Given the description of an element on the screen output the (x, y) to click on. 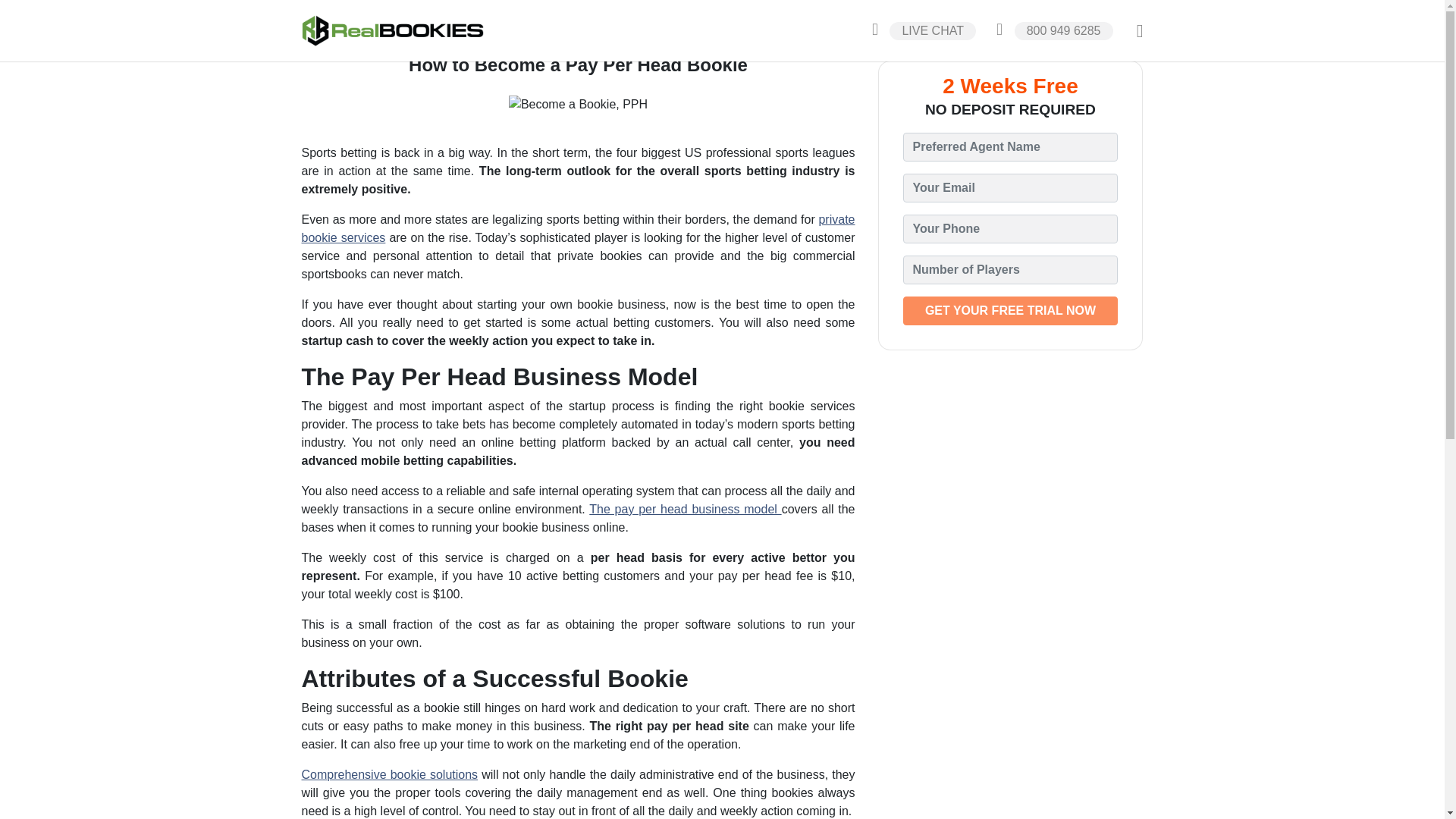
LIVE CHAT (919, 30)
GET YOUR FREE TRIAL NOW (1010, 310)
private bookie services (578, 228)
800 949 6285 (1050, 30)
The pay per head business model (684, 508)
Comprehensive bookie solutions (390, 774)
